Given the description of an element on the screen output the (x, y) to click on. 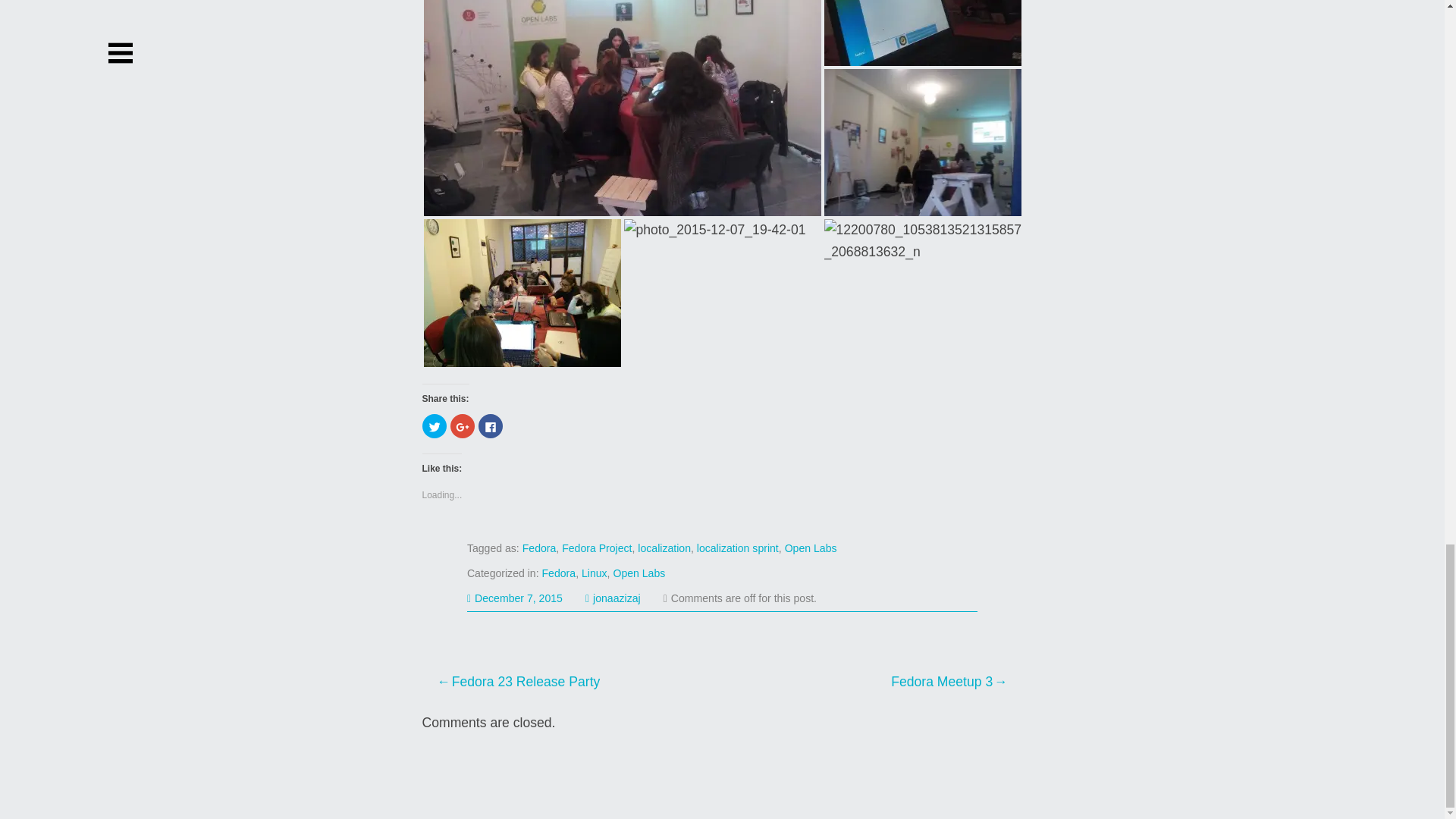
Fedora 23 Release Party (579, 681)
Fedora (558, 573)
localization (663, 548)
Click to share on Twitter (433, 426)
Open Labs (810, 548)
Fedora Meetup 3 (864, 681)
Open Labs (638, 573)
localization sprint (737, 548)
Fedora Project (596, 548)
Linux (593, 573)
